Given the description of an element on the screen output the (x, y) to click on. 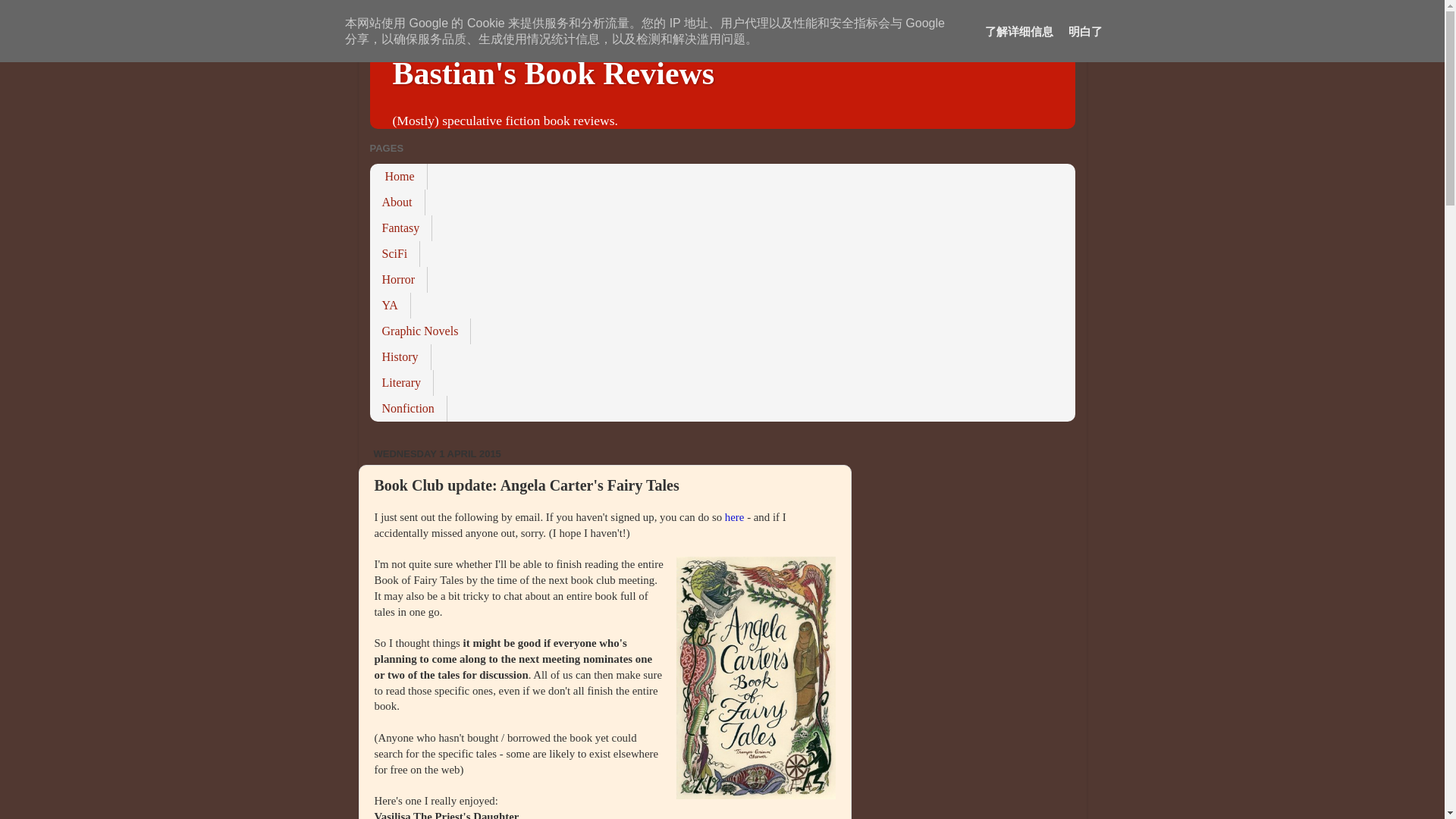
Nonfiction (407, 408)
Home (398, 176)
Horror (398, 279)
YA (389, 305)
History (399, 356)
Graphic Novels (420, 330)
Literary (401, 382)
SciFi (394, 253)
Bastian's Book Reviews (553, 73)
Fantasy (400, 227)
here (735, 517)
About (397, 202)
